Given the description of an element on the screen output the (x, y) to click on. 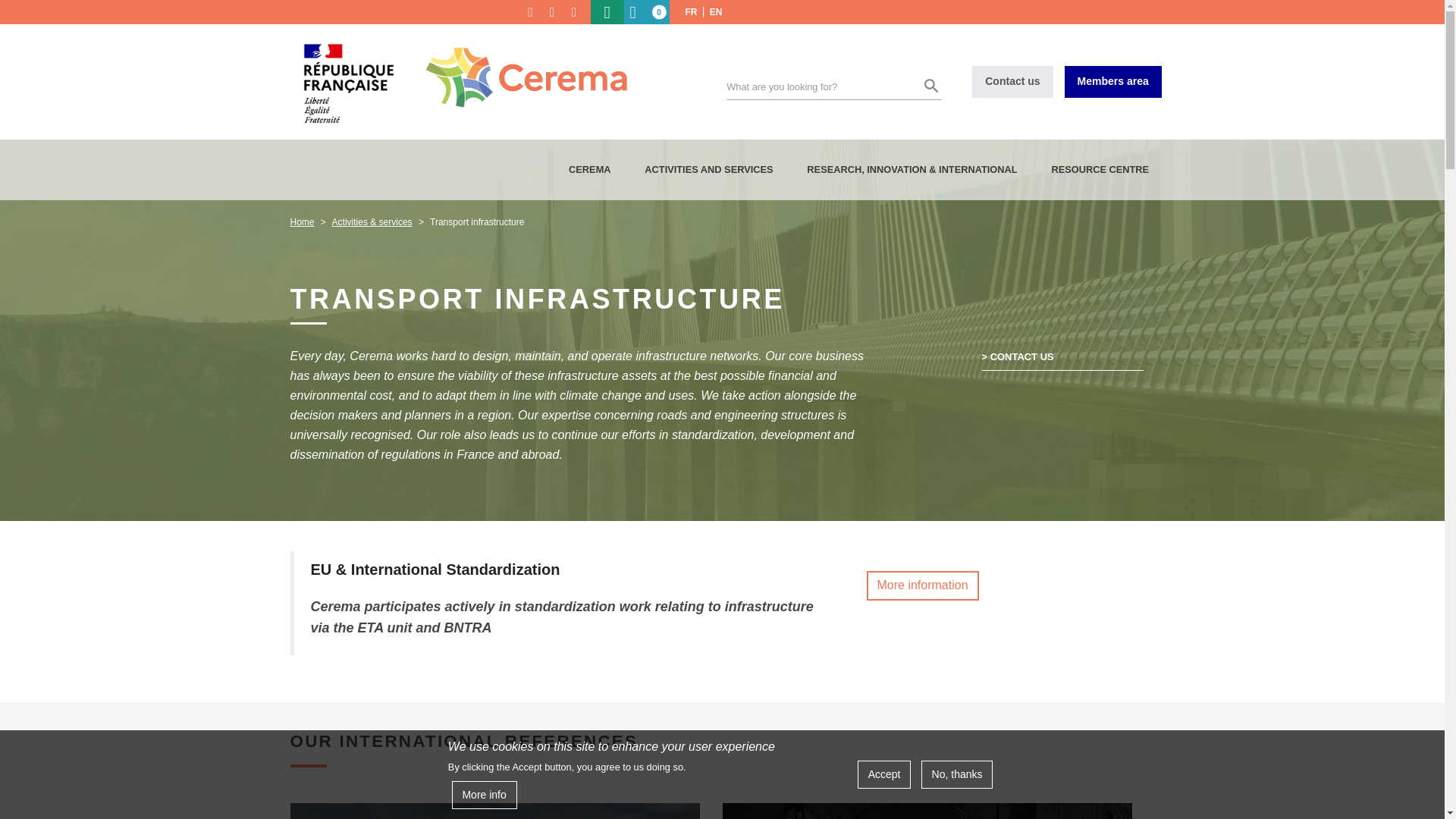
Go to home (517, 65)
No, thanks (956, 774)
Accept (884, 774)
More info (483, 795)
